Given the description of an element on the screen output the (x, y) to click on. 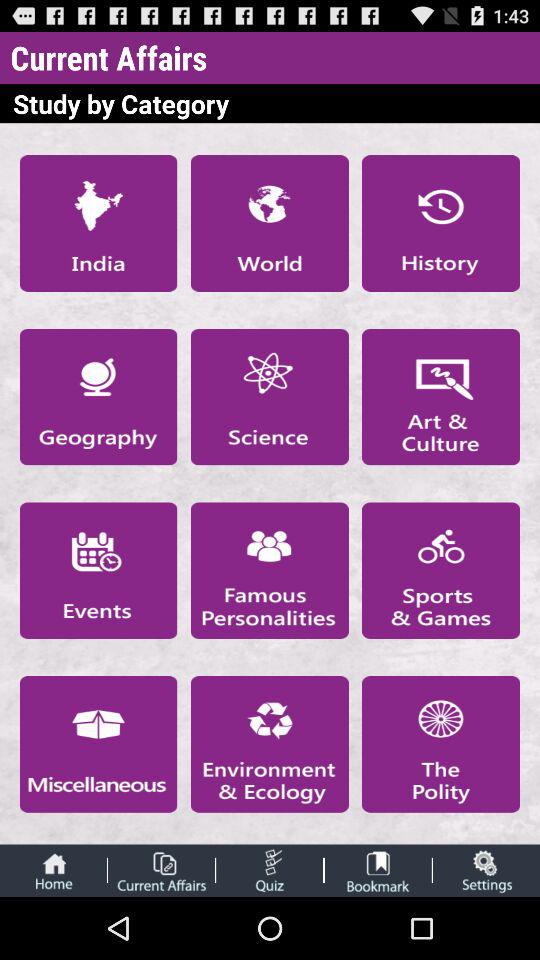
bookmarks tab (378, 870)
